Given the description of an element on the screen output the (x, y) to click on. 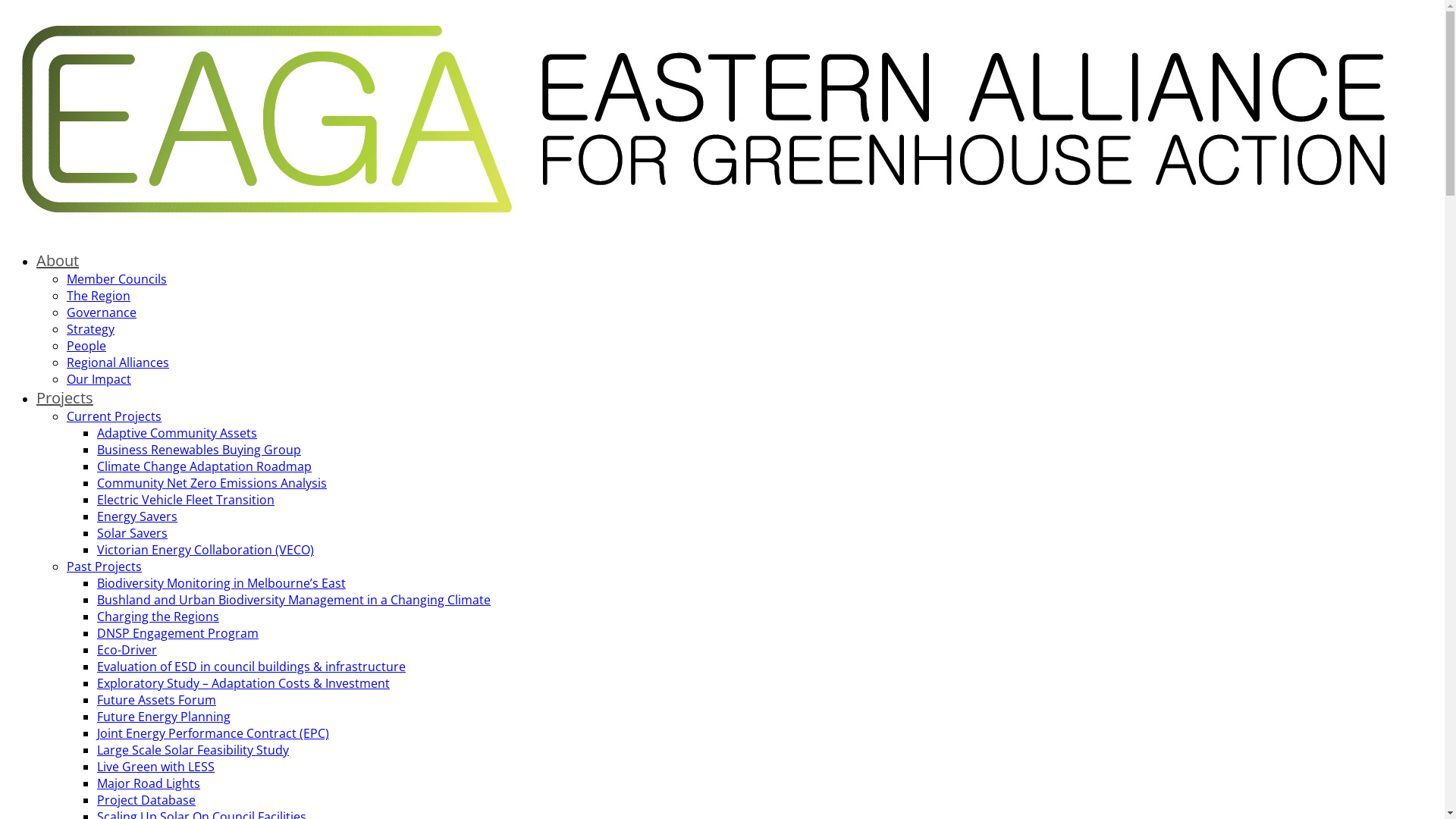
Future Assets Forum Element type: text (156, 699)
Joint Energy Performance Contract (EPC) Element type: text (213, 732)
Charging the Regions Element type: text (158, 616)
Adaptive Community Assets Element type: text (177, 432)
Energy Savers Element type: text (137, 516)
Climate Change Adaptation Roadmap Element type: text (204, 466)
Community Net Zero Emissions Analysis Element type: text (211, 482)
DNSP Engagement Program Element type: text (177, 632)
Member Councils Element type: text (116, 278)
Our Impact Element type: text (98, 378)
EAGA Element type: hover (703, 229)
Solar Savers Element type: text (132, 532)
Live Green with LESS Element type: text (155, 766)
Projects Element type: text (64, 397)
Strategy Element type: text (90, 328)
Large Scale Solar Feasibility Study Element type: text (192, 749)
Past Projects Element type: text (103, 566)
Regional Alliances Element type: text (117, 362)
Business Renewables Buying Group Element type: text (199, 449)
Future Energy Planning Element type: text (163, 716)
About Element type: text (57, 260)
Project Database Element type: text (146, 799)
The Region Element type: text (98, 295)
People Element type: text (86, 345)
Current Projects Element type: text (113, 415)
Electric Vehicle Fleet Transition Element type: text (185, 499)
Governance Element type: text (101, 312)
Victorian Energy Collaboration (VECO) Element type: text (205, 549)
Major Road Lights Element type: text (148, 783)
Evaluation of ESD in council buildings & infrastructure Element type: text (251, 666)
Eco-Driver Element type: text (126, 649)
